Given the description of an element on the screen output the (x, y) to click on. 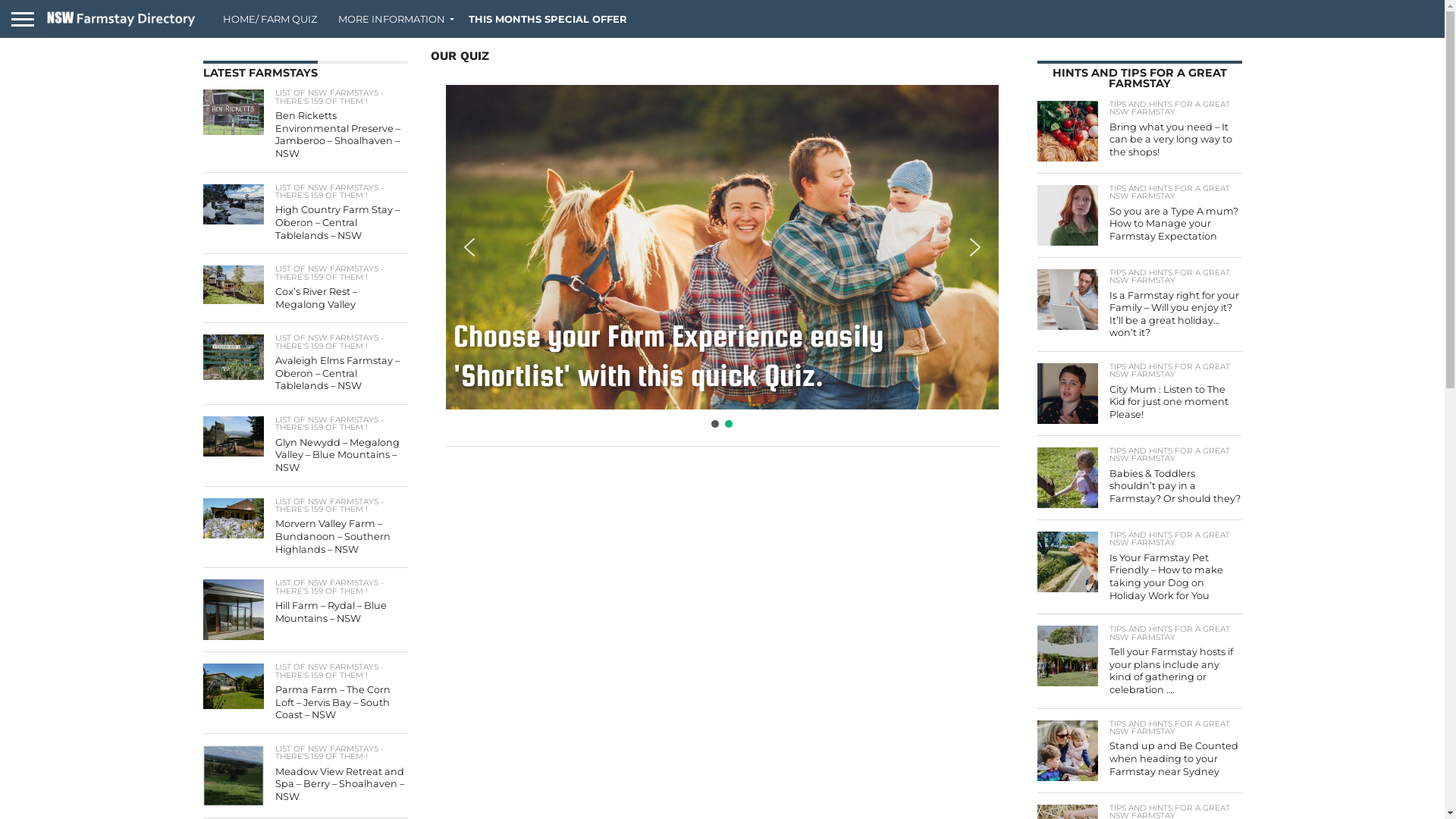
HOME/ FARM QUIZ Element type: text (269, 18)
MORE INFORMATION Element type: text (392, 18)
THIS MONTHS SPECIAL OFFER Element type: text (547, 18)
